Given the description of an element on the screen output the (x, y) to click on. 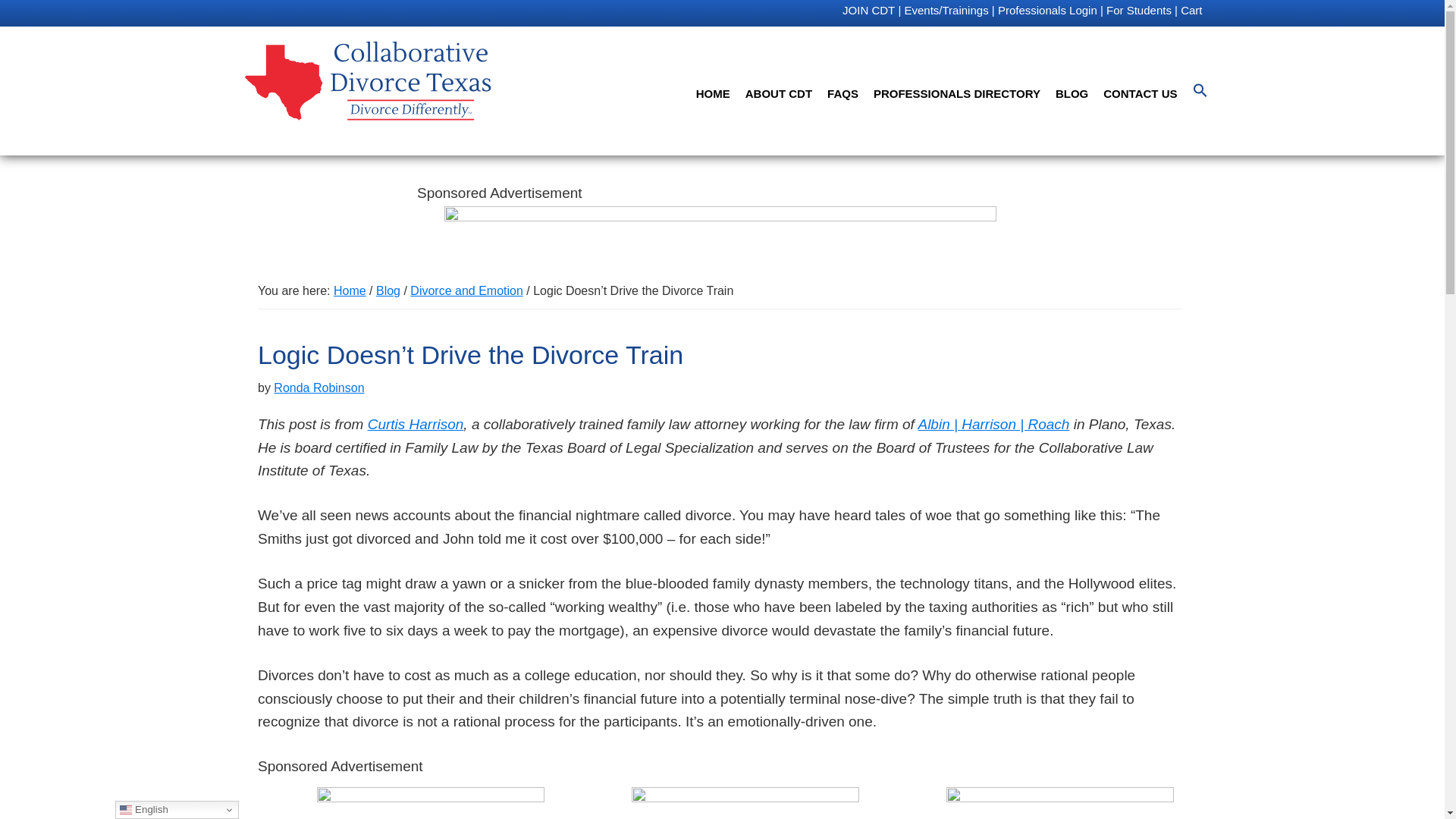
For Students (1139, 10)
Cart (1191, 10)
HOME (713, 93)
PROFESSIONALS DIRECTORY (957, 93)
Divorce and Emotion (466, 290)
Ronda Robinson (318, 387)
Curtis Harrison (416, 424)
Professionals Login (1047, 10)
Home (349, 290)
Blog (387, 290)
ABOUT CDT (778, 93)
FAQS (842, 93)
CONTACT US (1140, 93)
BLOG (1072, 93)
